Given the description of an element on the screen output the (x, y) to click on. 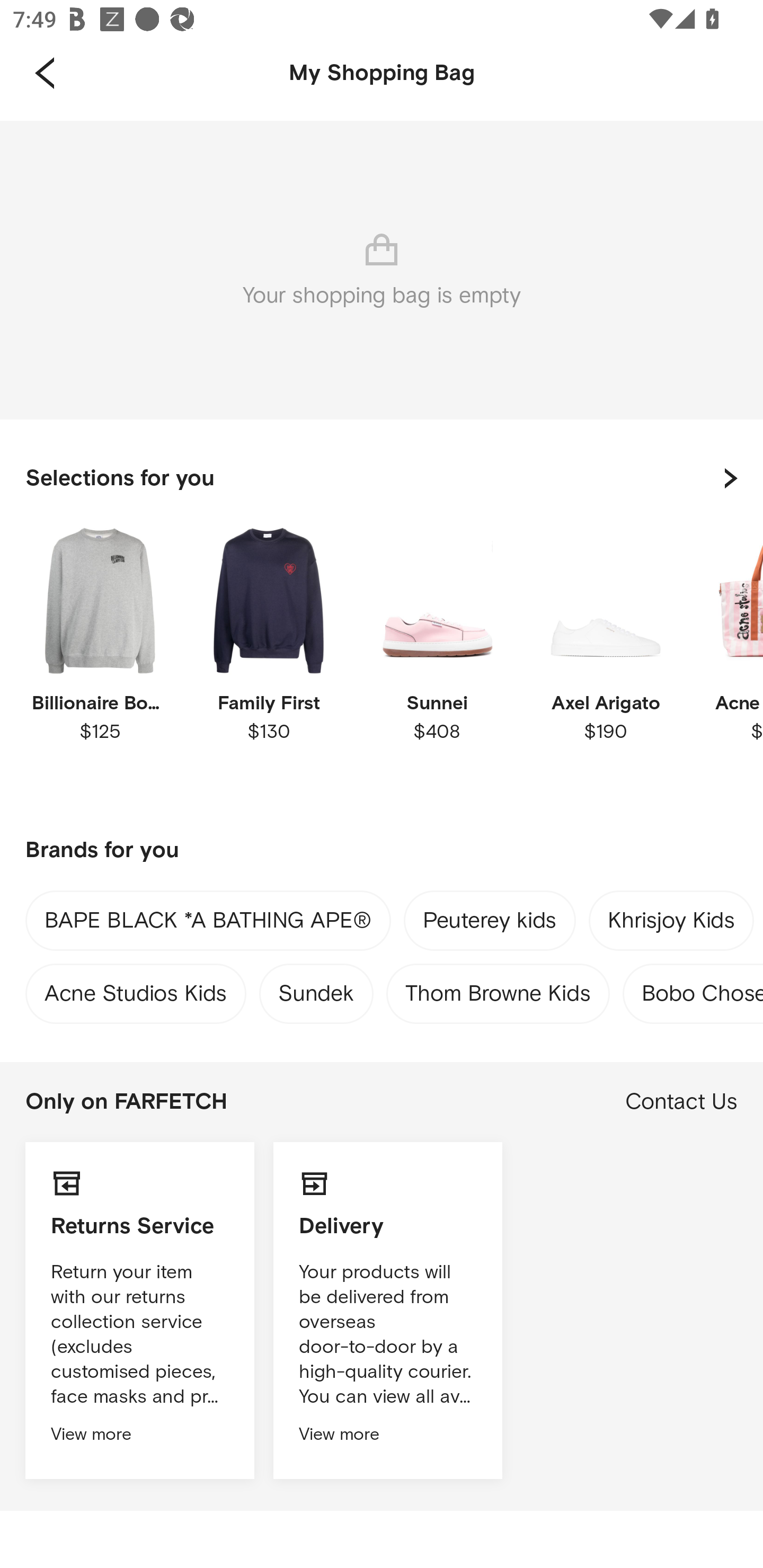
Selections for you (381, 477)
Billionaire Boys Club $125 (100, 660)
Family First $130 (268, 660)
Sunnei $408 (436, 660)
Axel Arigato $190 (605, 660)
Brands for you (381, 850)
BAPE BLACK *A BATHING APE® (208, 924)
Peuterey kids (489, 922)
Khrisjoy Kids (671, 924)
Acne Studios Kids (135, 988)
Sundek (316, 988)
Thom Browne Kids (497, 988)
Bobo Choses (702, 988)
Contact Us (680, 1101)
